Given the description of an element on the screen output the (x, y) to click on. 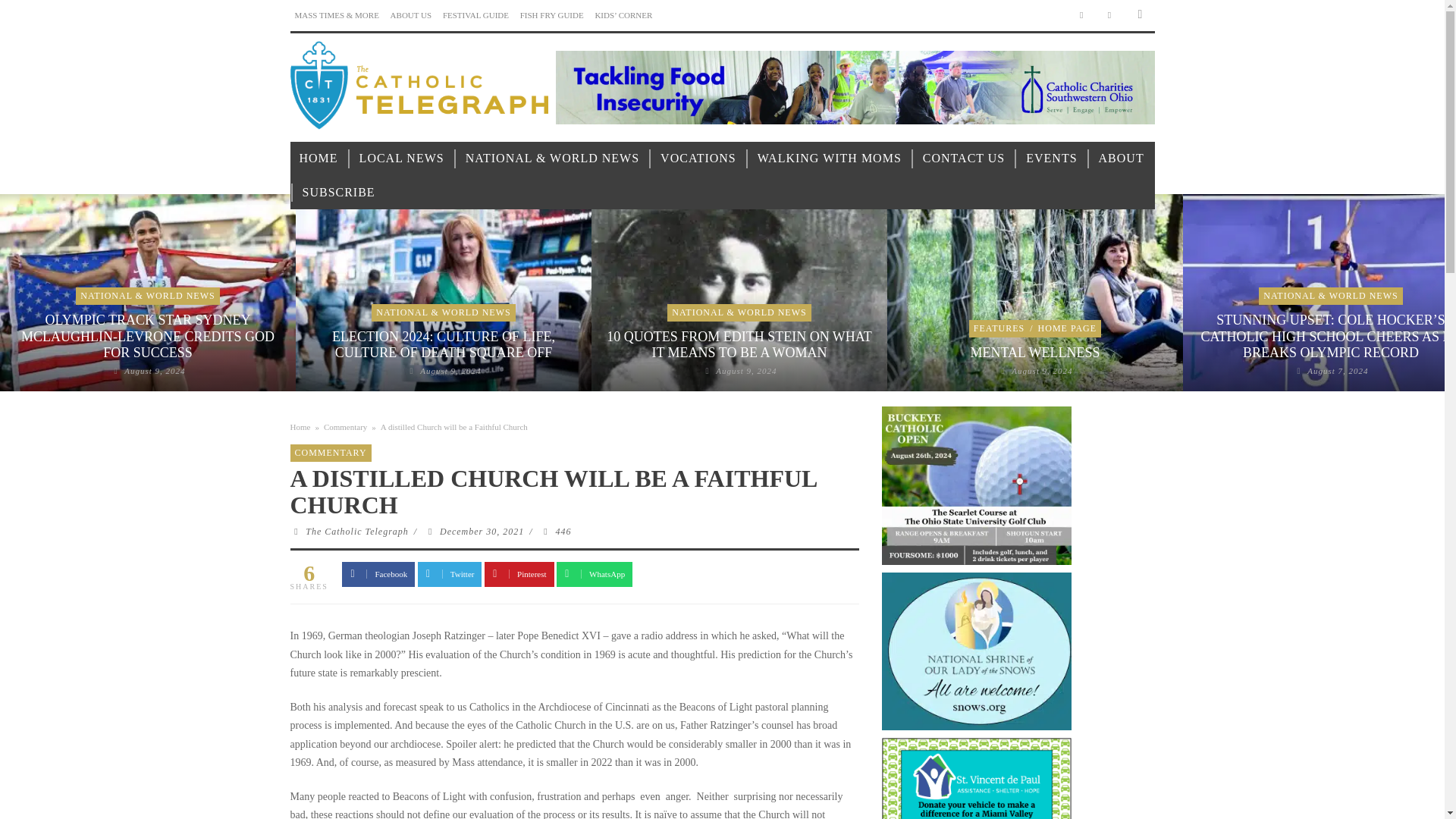
ABOUT (1121, 158)
HOME (317, 158)
VOCATIONS (697, 158)
Twitter (1110, 15)
SUBSCRIBE (338, 192)
Facebook (1081, 15)
CONTACT US (963, 158)
